Given the description of an element on the screen output the (x, y) to click on. 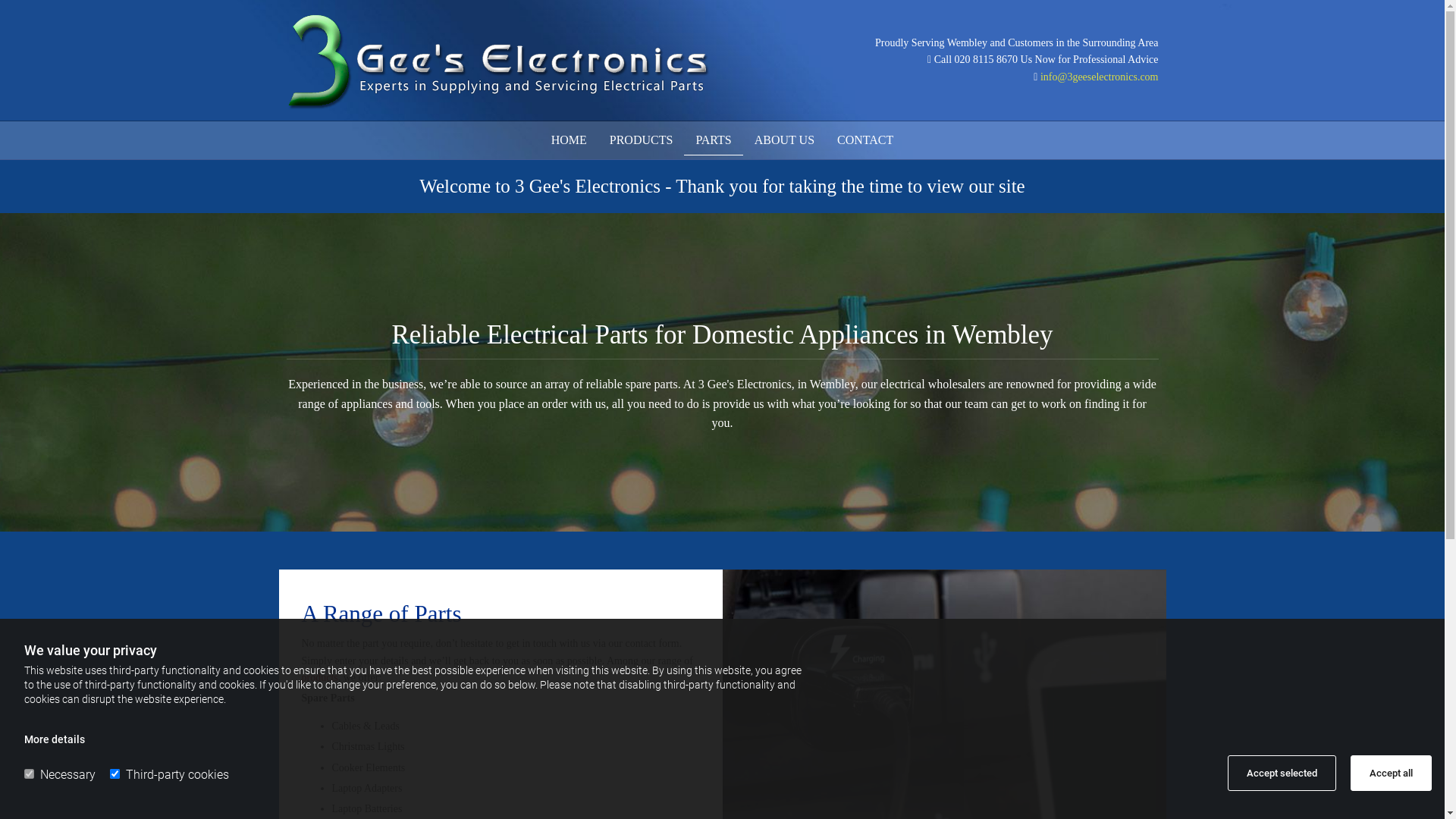
PRODUCTS Element type: text (641, 140)
ABOUT US Element type: text (784, 140)
products Element type: text (319, 677)
PARTS Element type: text (713, 140)
info@3geeselectronics.com Element type: text (1099, 76)
More details Element type: text (54, 739)
CONTACT Element type: text (864, 140)
Accept all Element type: text (1390, 772)
Accept selected Element type: text (1281, 772)
HOME Element type: text (568, 140)
